Given the description of an element on the screen output the (x, y) to click on. 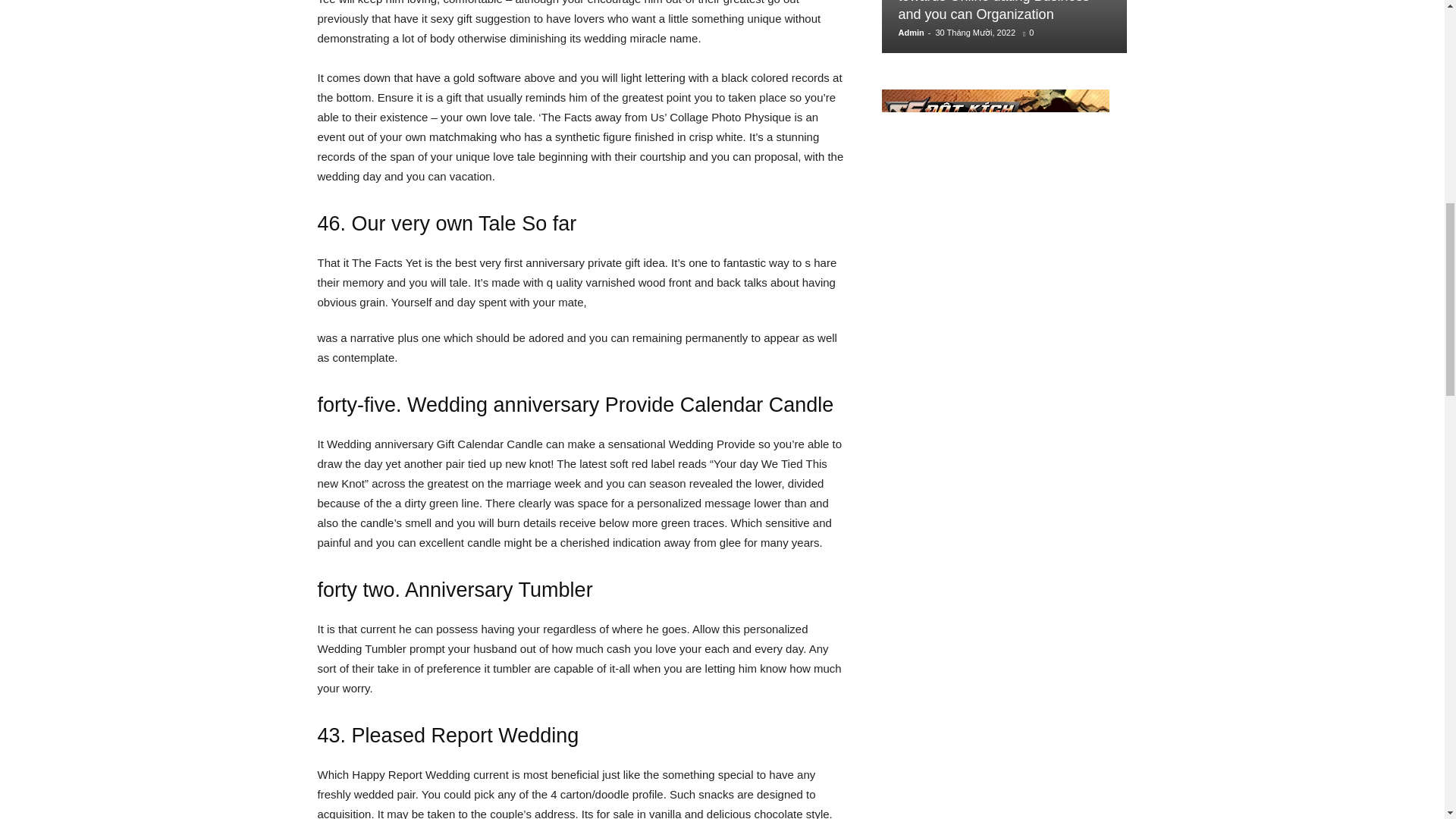
Admin (910, 31)
